Given the description of an element on the screen output the (x, y) to click on. 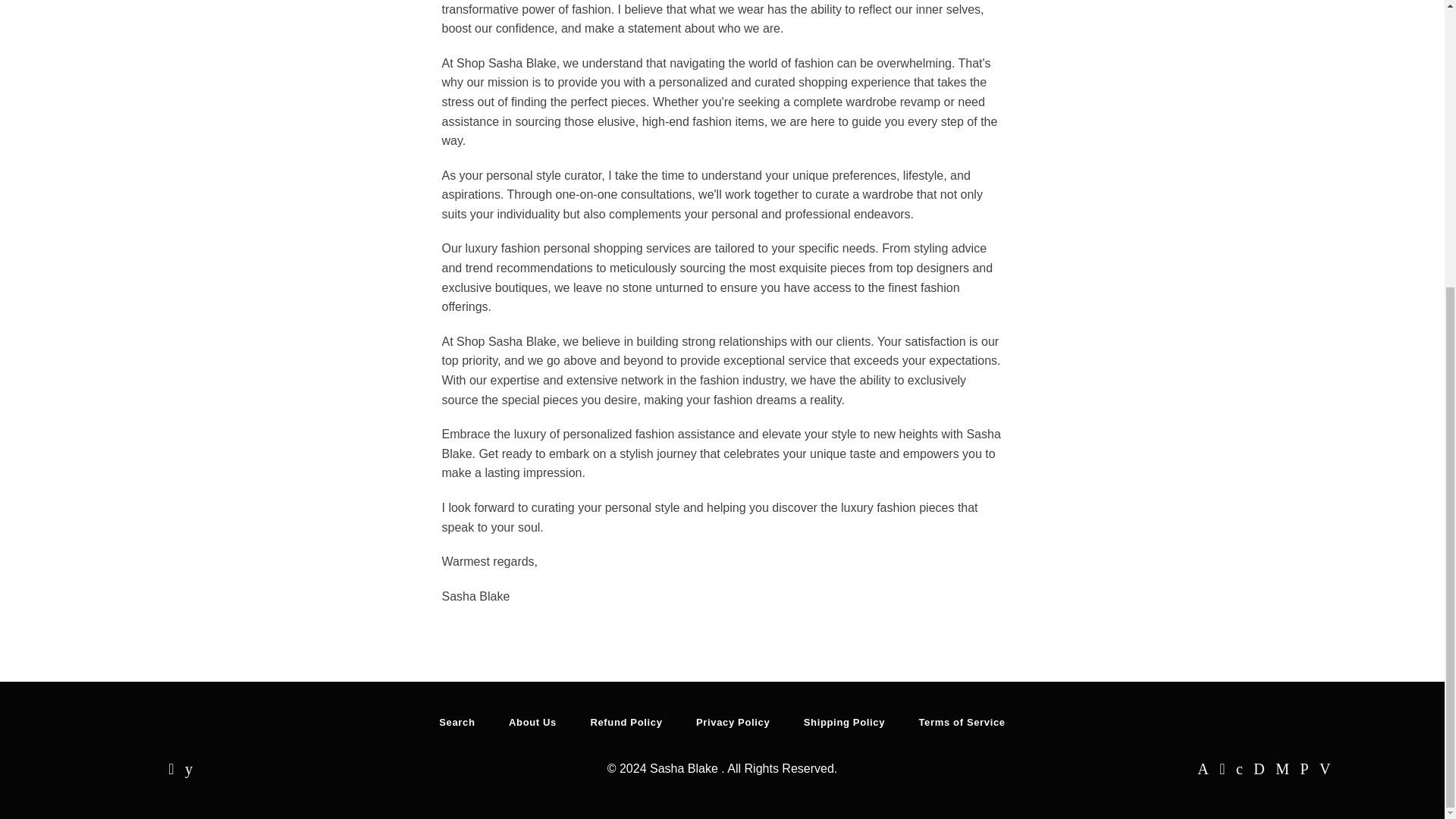
About Us (532, 722)
Privacy Policy (732, 722)
Terms of Service (961, 722)
Sasha Blake  on YouTube (188, 769)
Sasha Blake (684, 768)
Search (456, 722)
Sasha Blake  on Instagram (170, 769)
Refund Policy (626, 722)
Shipping Policy (844, 722)
YouTube (188, 769)
Instagram (170, 769)
